Given the description of an element on the screen output the (x, y) to click on. 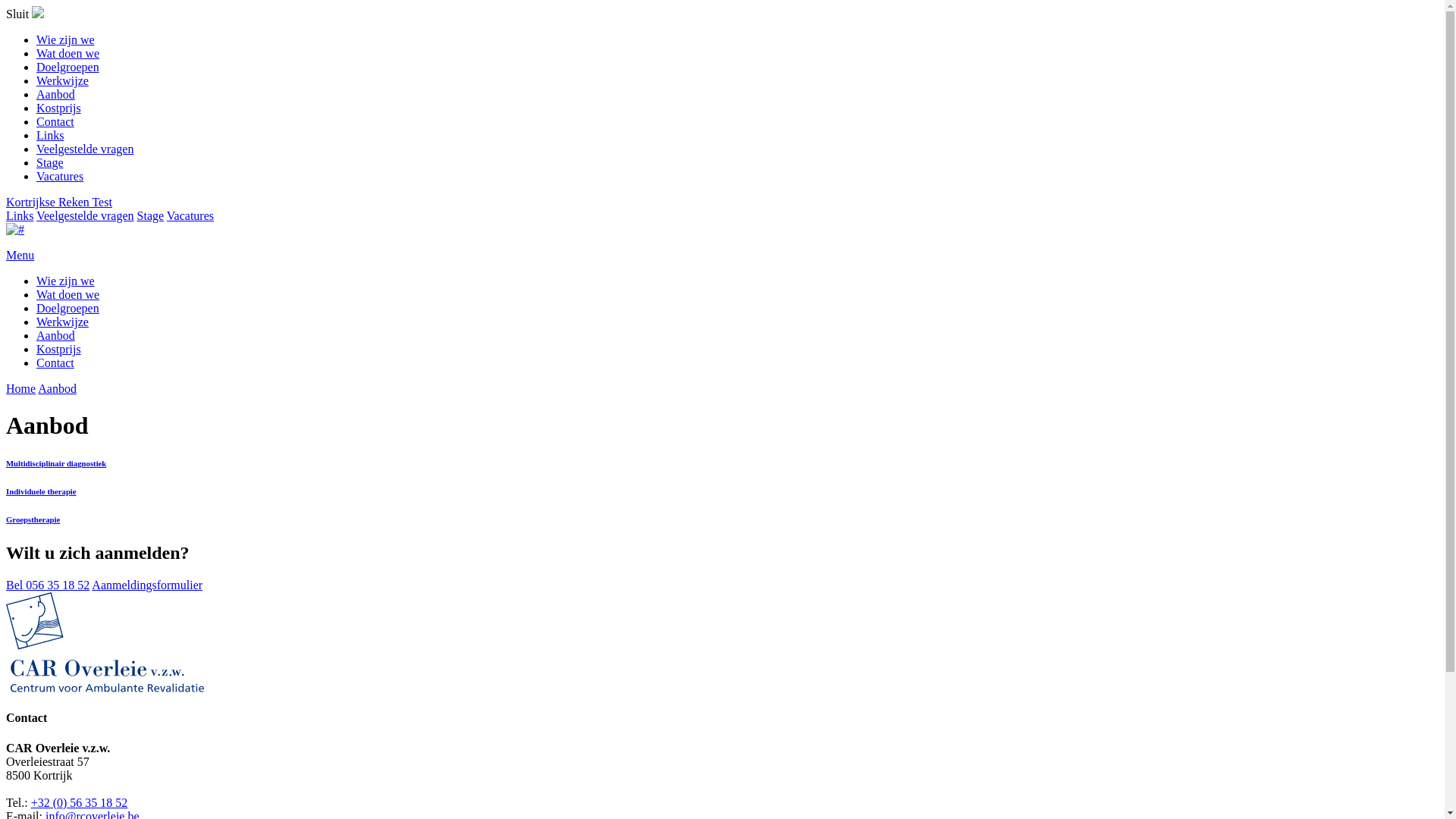
CAR Overleie v.z.w. Element type: hover (15, 228)
Menu Element type: text (722, 268)
Multidisciplinair diagnostiek Element type: text (722, 462)
Aanbod Element type: text (55, 93)
Wie zijn we Element type: text (65, 39)
Aanbod Element type: text (56, 388)
Contact Element type: text (55, 121)
Kostprijs Element type: text (58, 107)
+32 (0) 56 35 18 52 Element type: text (79, 802)
Stage Element type: text (49, 162)
Wie zijn we Element type: text (65, 280)
Sluit Element type: text (18, 13)
Veelgestelde vragen Element type: text (84, 148)
Veelgestelde vragen Element type: text (84, 215)
Bel 056 35 18 52 Element type: text (47, 584)
Doelgroepen Element type: text (67, 307)
Aanmeldingsformulier Element type: text (146, 584)
Vacatures Element type: text (189, 215)
Groepstherapie Element type: text (722, 519)
Individuele therapie Element type: text (722, 490)
Wat doen we Element type: text (67, 53)
Links Element type: text (19, 215)
Links Element type: text (49, 134)
Doelgroepen Element type: text (67, 66)
Aanbod Element type: text (55, 335)
Kortrijkse Reken Test Element type: text (59, 201)
Vacatures Element type: text (59, 175)
Contact Element type: text (737, 363)
Werkwijze Element type: text (62, 321)
Stage Element type: text (150, 215)
Werkwijze Element type: text (62, 80)
Kostprijs Element type: text (58, 348)
Wat doen we Element type: text (67, 294)
Home Element type: text (20, 388)
